Given the description of an element on the screen output the (x, y) to click on. 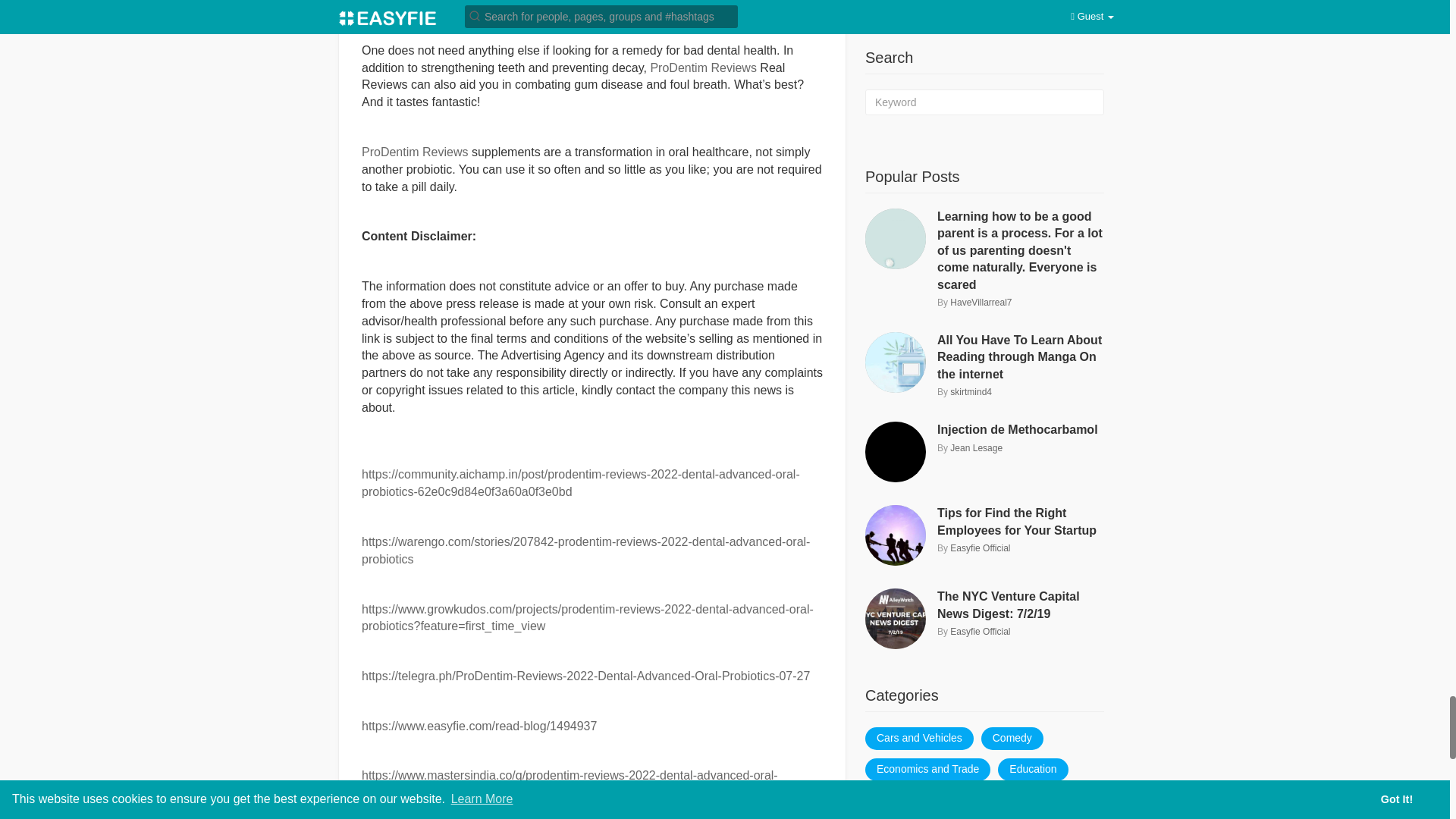
ProDentim Reviews (702, 67)
ProDentim Reviews (414, 151)
